Given the description of an element on the screen output the (x, y) to click on. 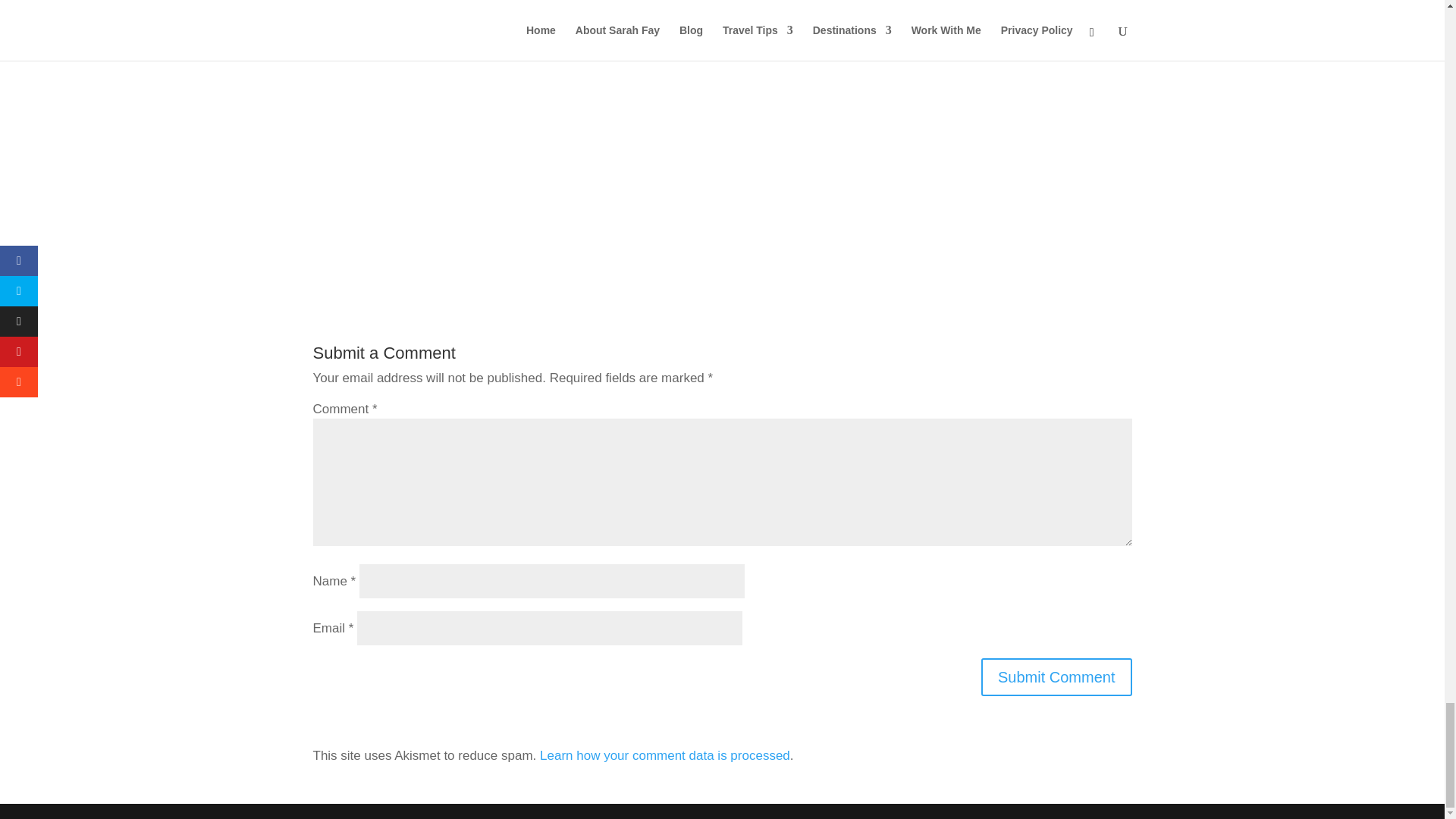
Submit Comment (1056, 677)
Learn how your comment data is processed (665, 755)
Submit Comment (1056, 677)
